Given the description of an element on the screen output the (x, y) to click on. 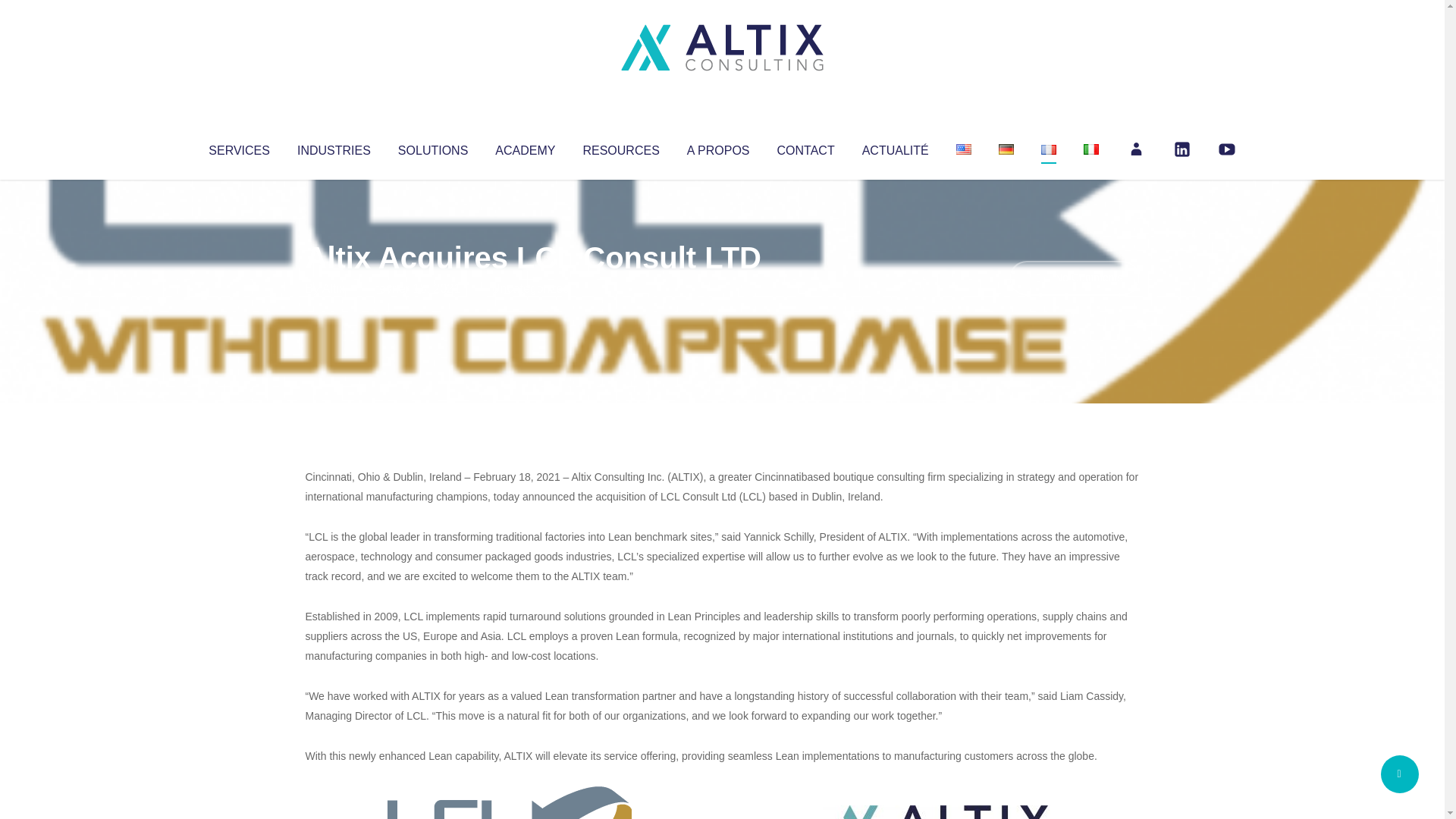
Altix (333, 287)
Uncategorized (530, 287)
Articles par Altix (333, 287)
ACADEMY (524, 146)
A PROPOS (718, 146)
RESOURCES (620, 146)
INDUSTRIES (334, 146)
SOLUTIONS (432, 146)
No Comments (1073, 278)
SERVICES (238, 146)
